Given the description of an element on the screen output the (x, y) to click on. 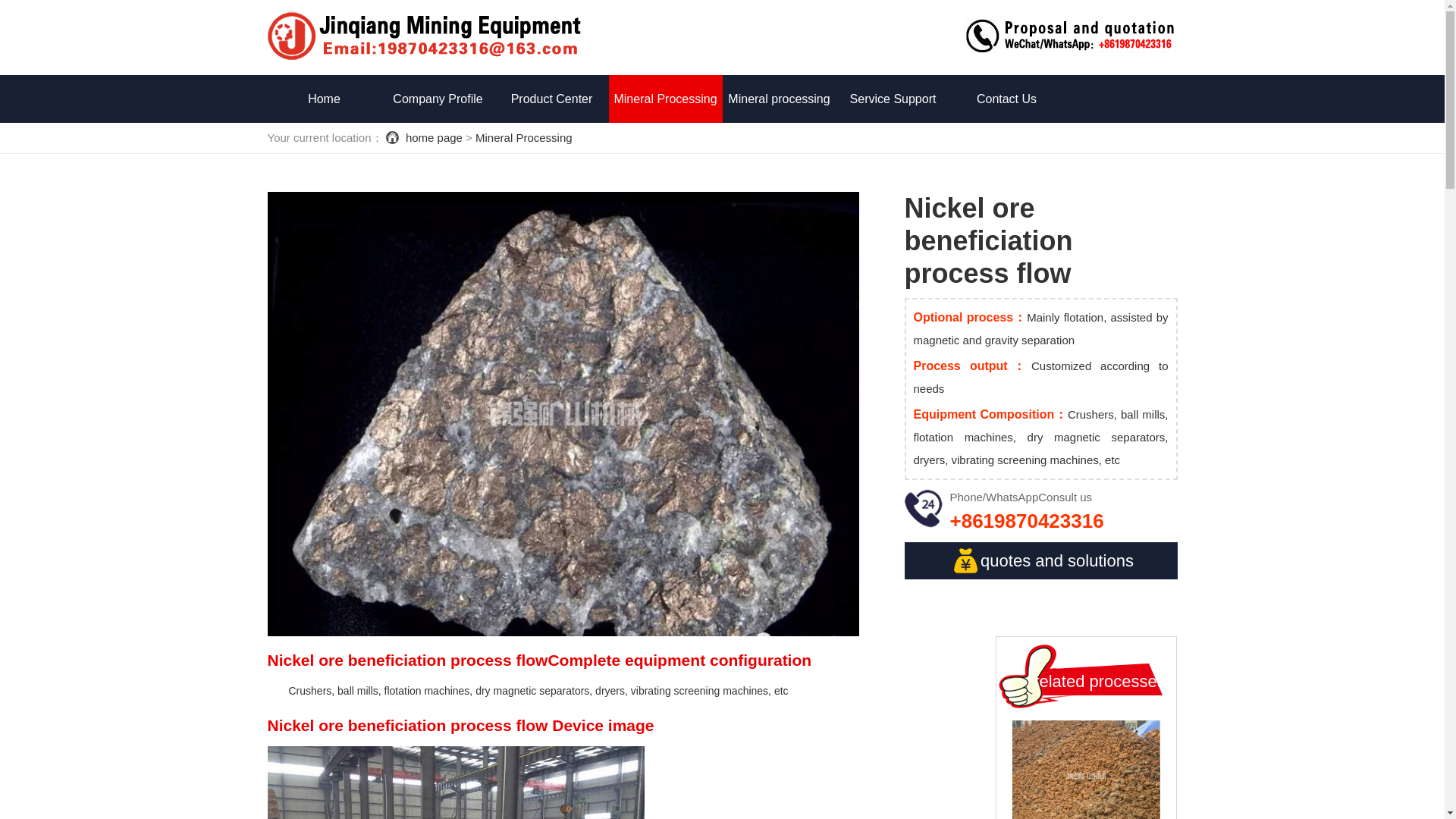
Mineral Processing (524, 137)
Product Center (551, 98)
Contact Us (1005, 98)
home page (434, 137)
Service Support (892, 98)
Mineral Processing (665, 98)
Company Profile (437, 98)
Zinc oxide beneficiation process (1085, 769)
Mineral processing knowledge (778, 122)
quotes and solutions (1040, 560)
